Given the description of an element on the screen output the (x, y) to click on. 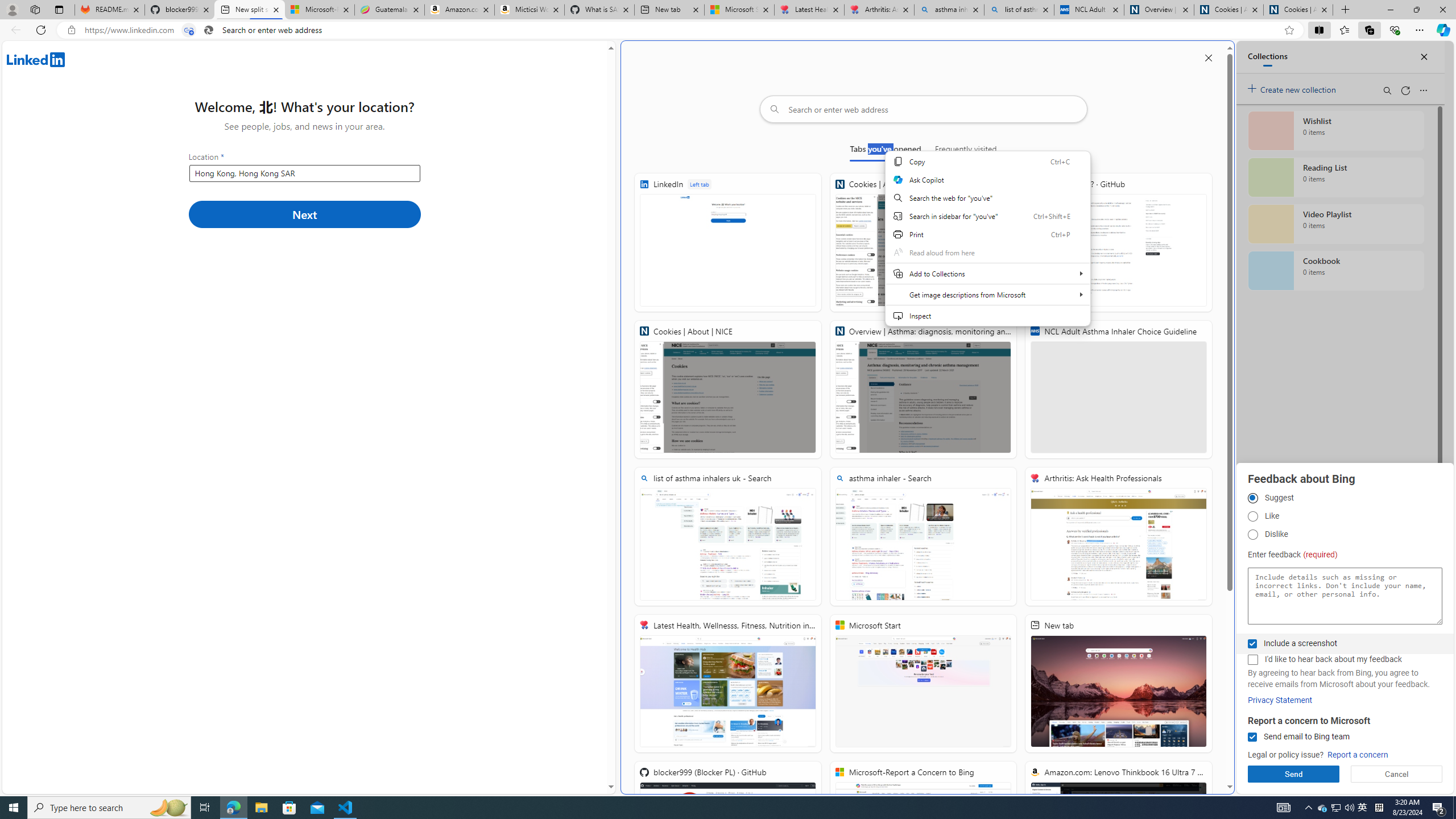
Tabs in split screen (189, 29)
Add to Collections (987, 273)
Search in sidebar for "you've" (987, 216)
Cookies | About | NICE (1297, 9)
Send (1293, 773)
Suggest (1252, 498)
Search the web for "you've" (987, 198)
